Given the description of an element on the screen output the (x, y) to click on. 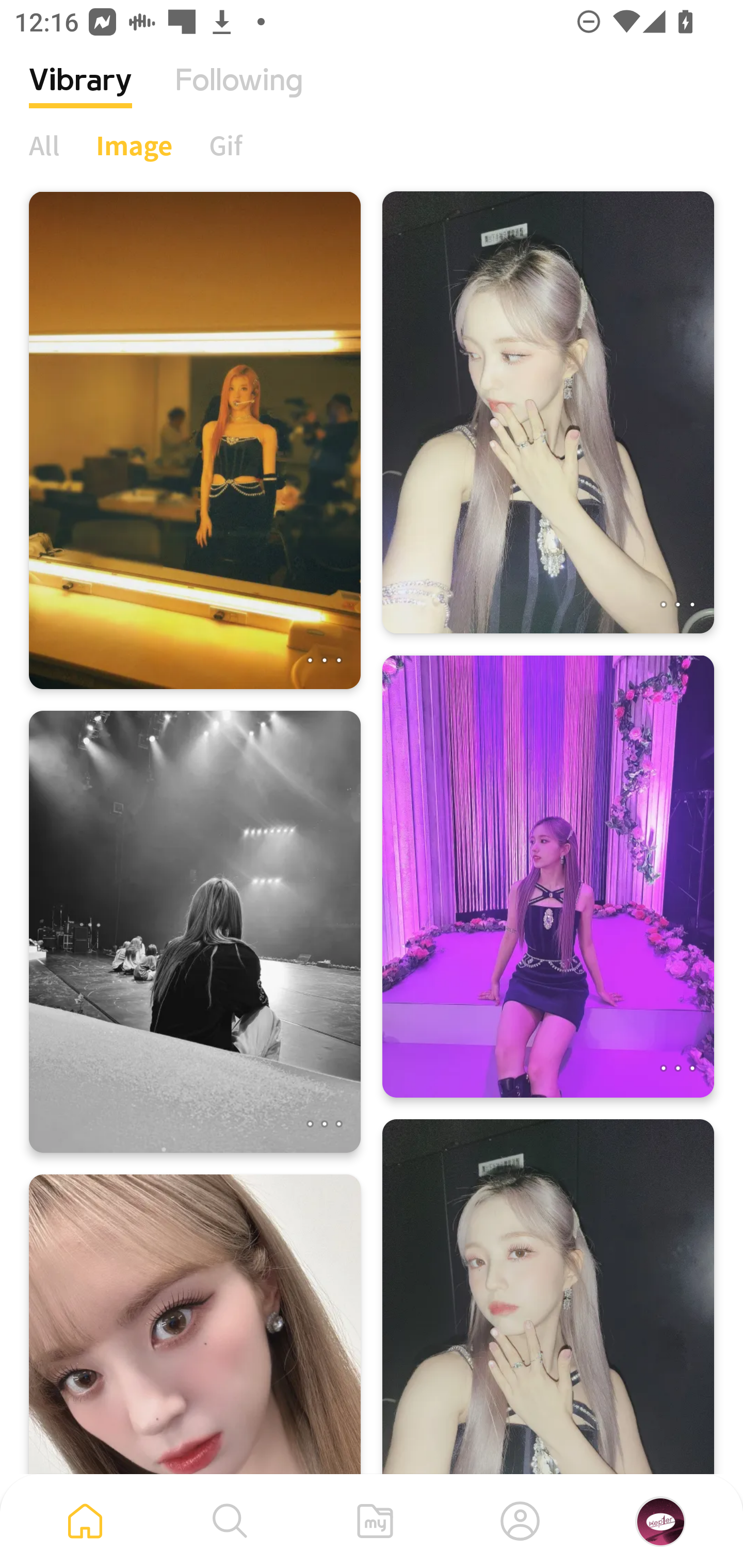
Vibrary (80, 95)
Following (239, 95)
All (44, 145)
Image (134, 145)
Gif (225, 145)
